Given the description of an element on the screen output the (x, y) to click on. 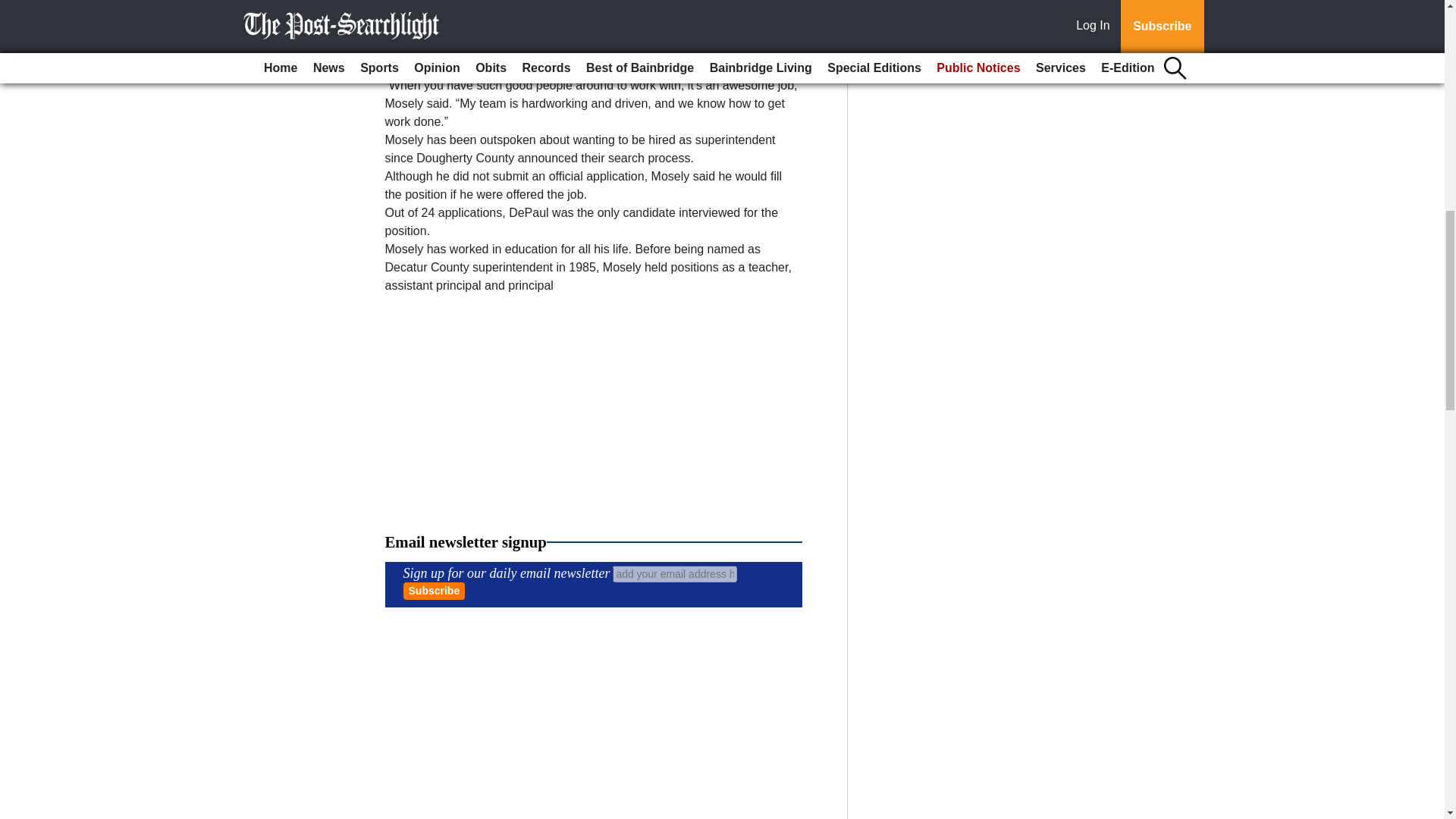
Subscribe (434, 590)
Subscribe (434, 590)
